Given the description of an element on the screen output the (x, y) to click on. 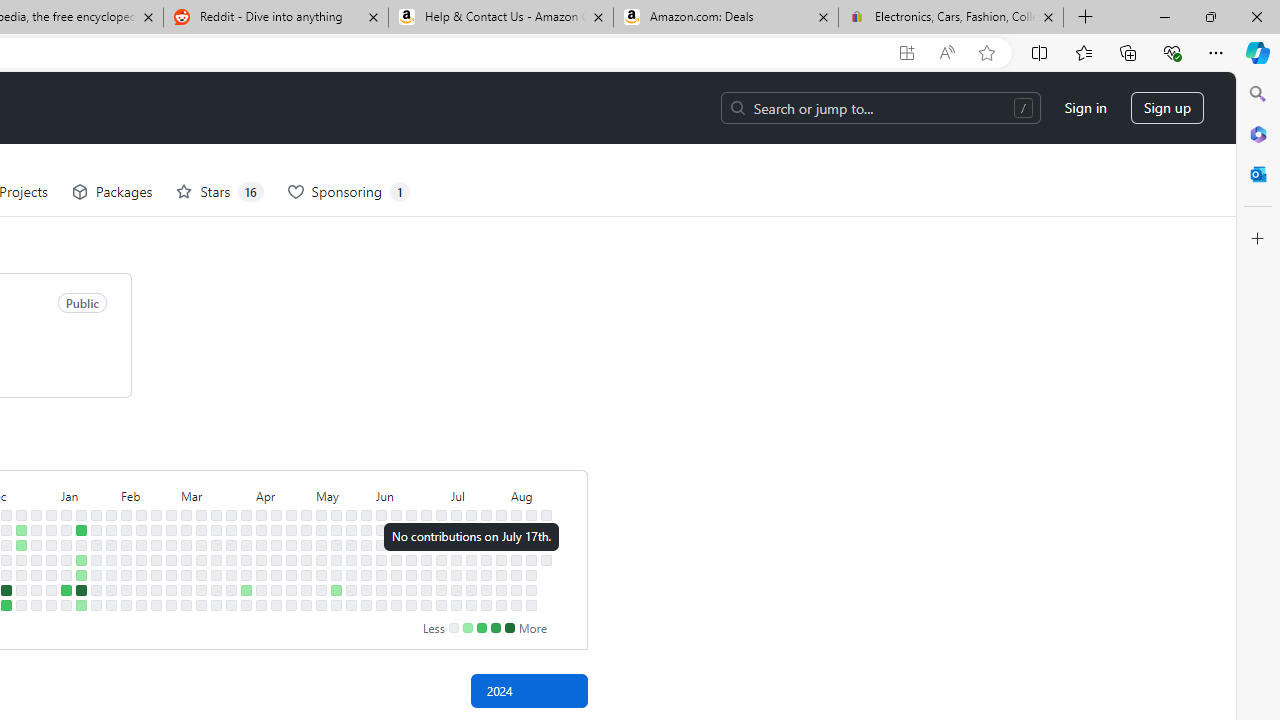
No contributions on January 25th. (96, 574)
No contributions on July 24th. (486, 559)
No contributions on July 20th. (471, 605)
No contributions on December 20th. (20, 559)
No contributions on May 31st. (366, 589)
No contributions on May 28th. (366, 544)
No contributions on March 17th. (216, 515)
No contributions on January 21st. (96, 515)
No contributions on June 11th. (395, 544)
No contributions on May 8th. (321, 559)
No contributions on December 30th. (36, 605)
February (148, 493)
Electronics, Cars, Fashion, Collectibles & More | eBay (950, 17)
No contributions on May 26th. (366, 515)
